Given the description of an element on the screen output the (x, y) to click on. 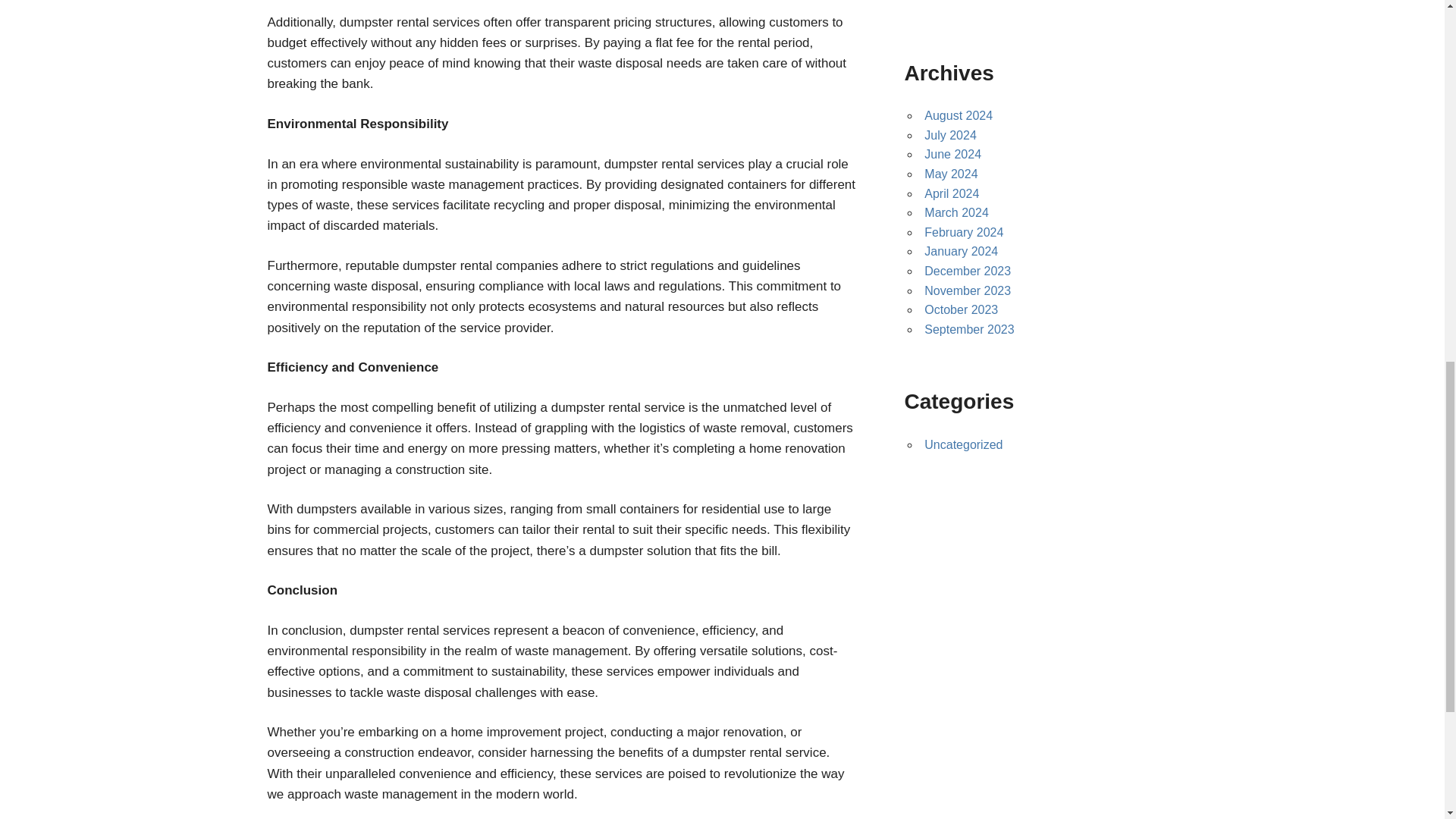
April 2024 (951, 193)
March 2024 (956, 212)
August 2024 (958, 115)
November 2023 (967, 290)
May 2024 (950, 173)
June 2024 (952, 154)
October 2023 (960, 309)
December 2023 (967, 270)
February 2024 (963, 232)
January 2024 (960, 250)
July 2024 (950, 134)
